Given the description of an element on the screen output the (x, y) to click on. 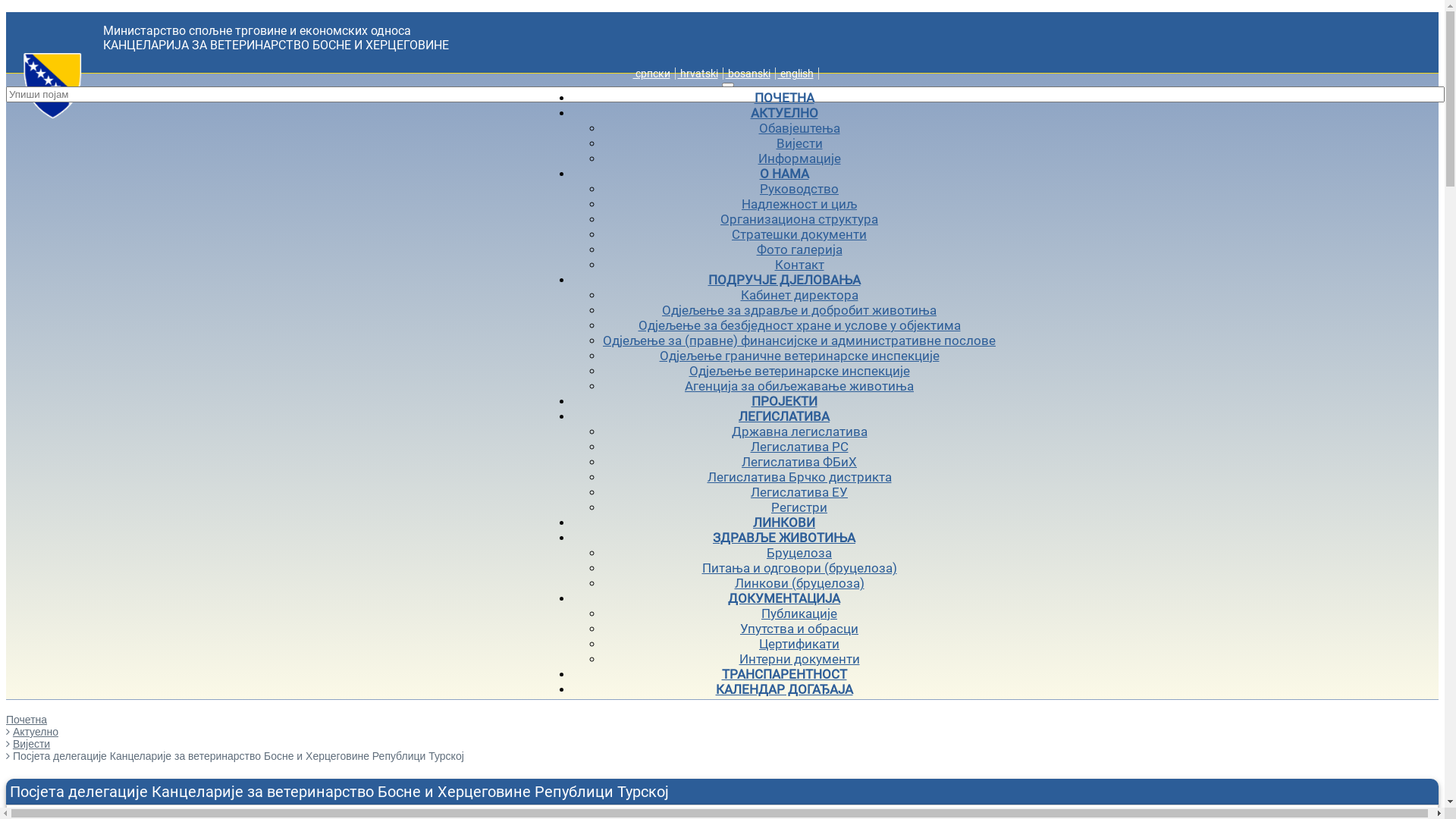
 bosanski Element type: text (746, 73)
 hrvatski Element type: text (697, 73)
 english Element type: text (795, 73)
Toggle navigation Element type: text (727, 84)
